Given the description of an element on the screen output the (x, y) to click on. 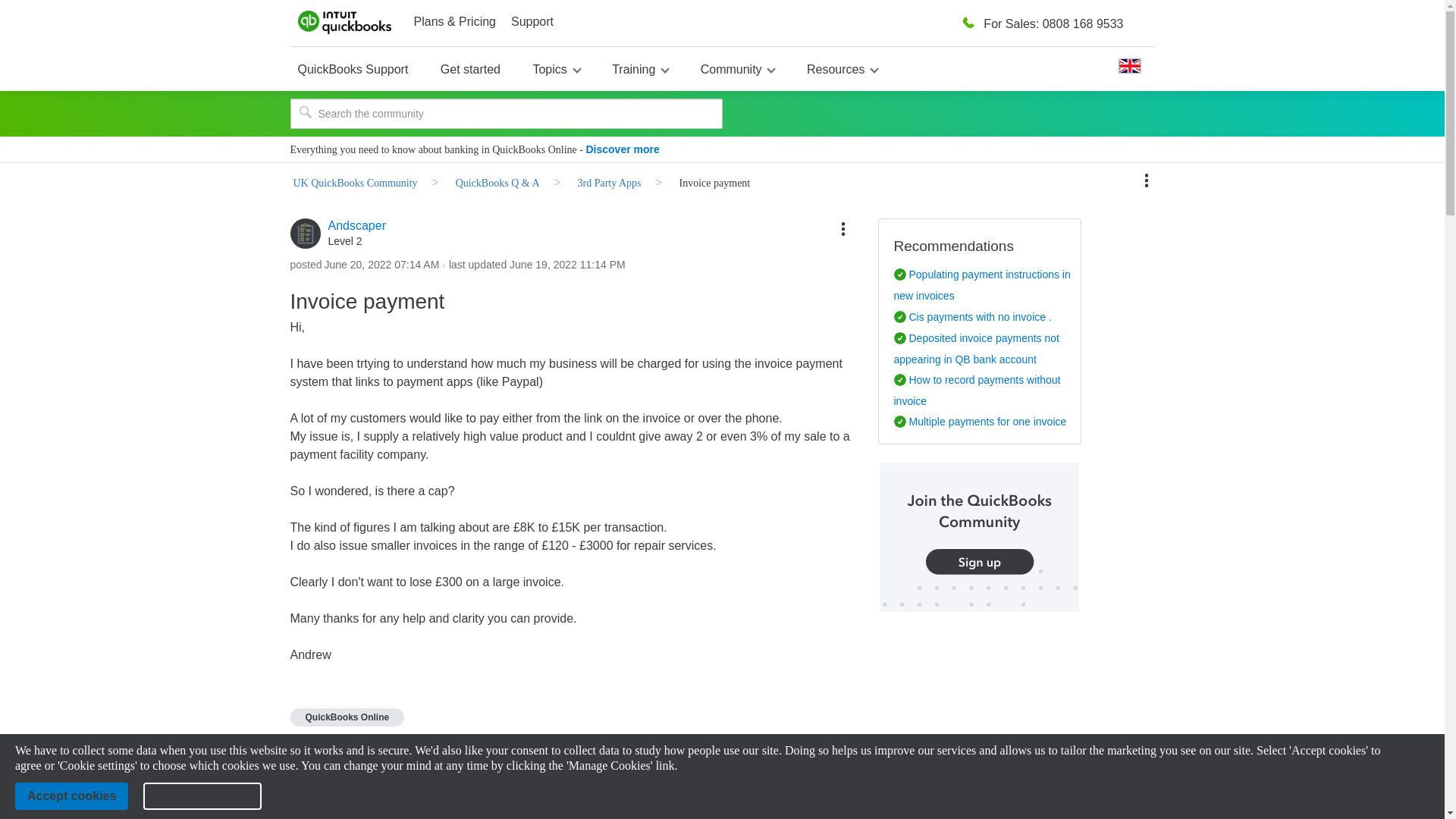
Show option menu (843, 228)
Topics   (555, 68)
QuickBooks Support (352, 68)
Search (304, 112)
Andscaper (304, 233)
Posted on (381, 264)
Get started (470, 68)
Search (304, 112)
Show option menu (1146, 180)
Search (505, 113)
